Given the description of an element on the screen output the (x, y) to click on. 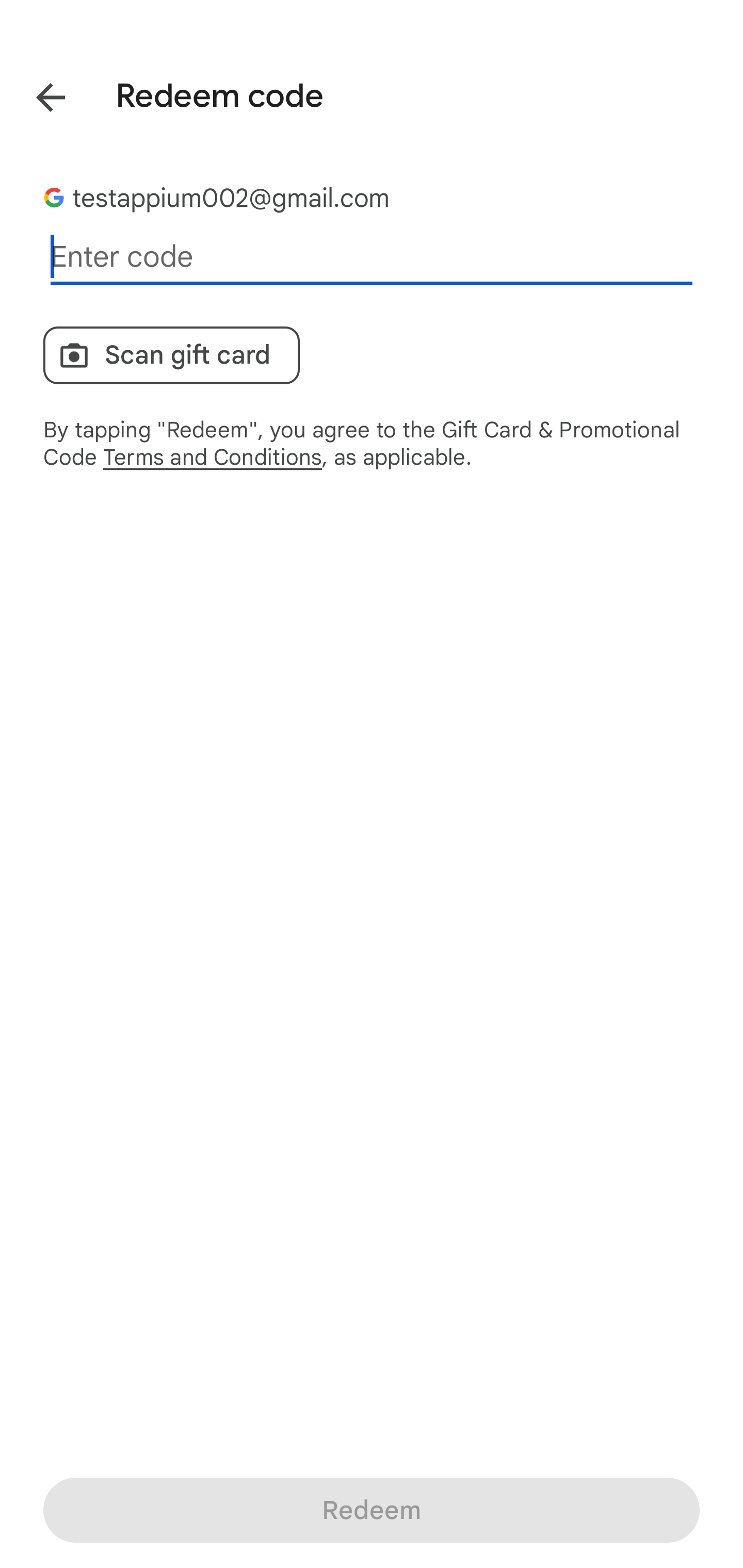
Back (36, 94)
Enter code (371, 256)
Scan gift card (171, 355)
